Given the description of an element on the screen output the (x, y) to click on. 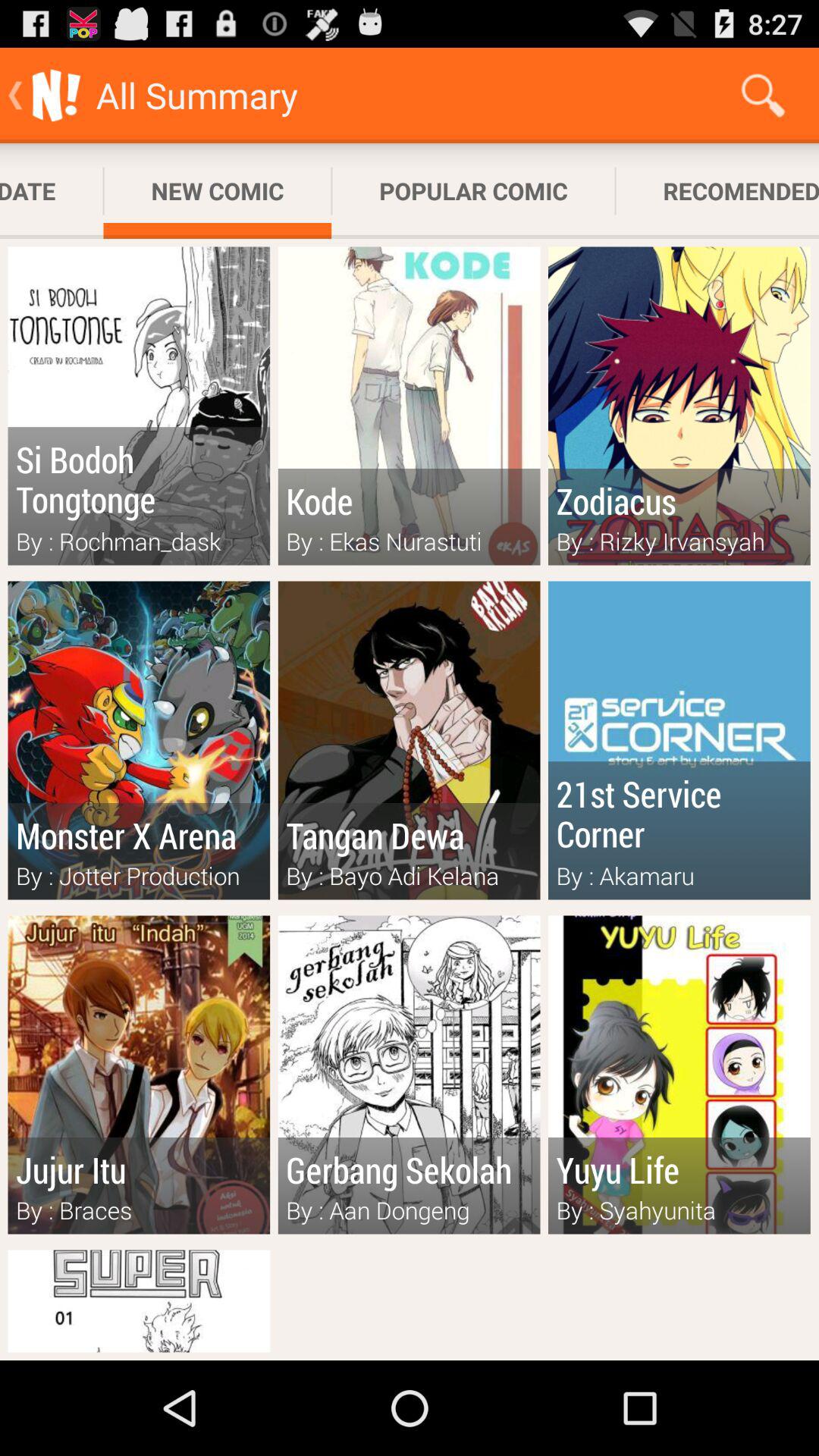
choose icon to the right of popular comic (763, 95)
